Given the description of an element on the screen output the (x, y) to click on. 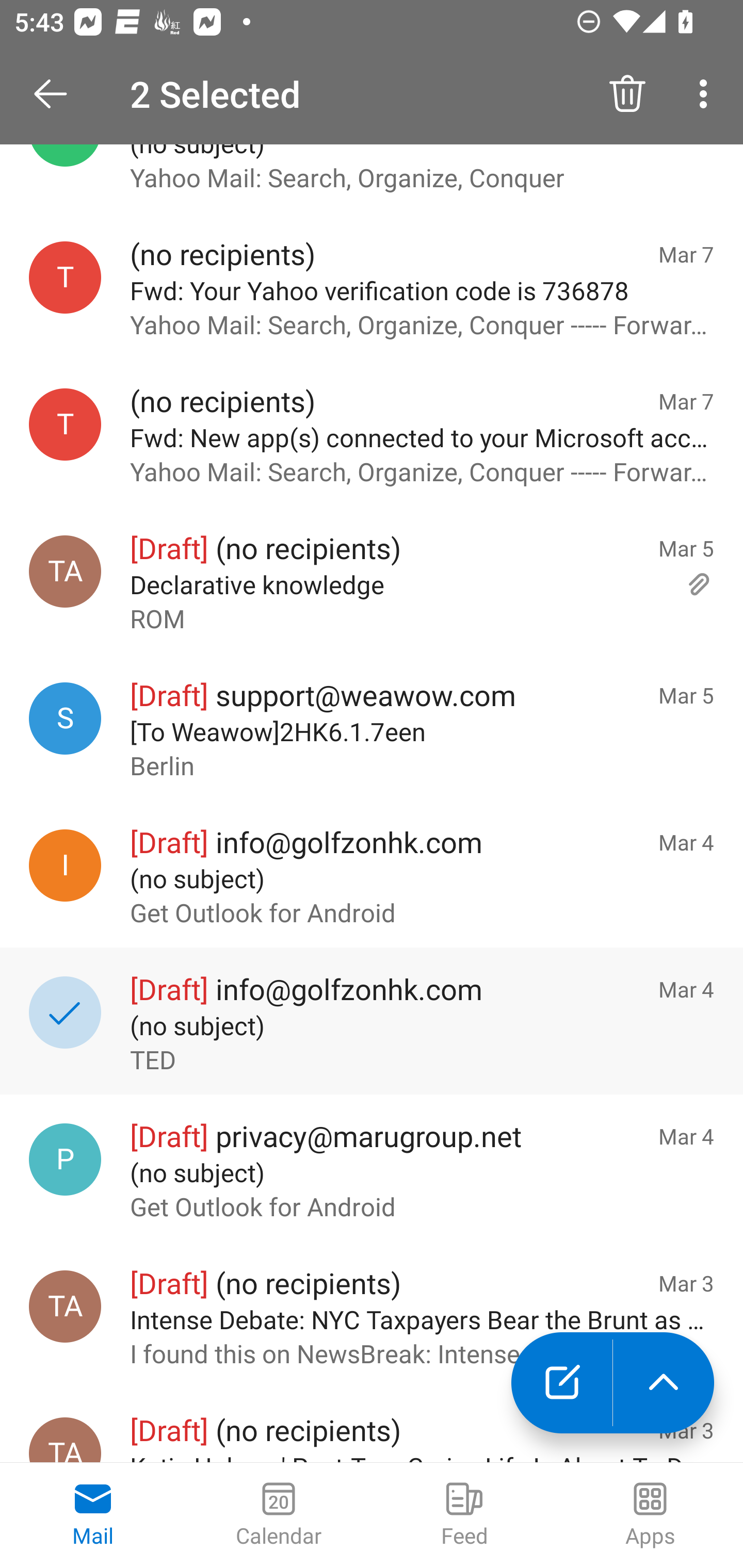
Delete (626, 93)
More options (706, 93)
Open Navigation Drawer (57, 94)
testappium002@outlook.com (64, 277)
testappium002@outlook.com (64, 424)
Test Appium, testappium002@outlook.com (64, 571)
support@weawow.com (64, 718)
info@golfzonhk.com (64, 865)
privacy@marugroup.net (64, 1158)
Test Appium, testappium002@outlook.com (64, 1306)
New mail (561, 1382)
launch the extended action menu (663, 1382)
Test Appium, testappium002@outlook.com (64, 1439)
Calendar (278, 1515)
Feed (464, 1515)
Apps (650, 1515)
